Given the description of an element on the screen output the (x, y) to click on. 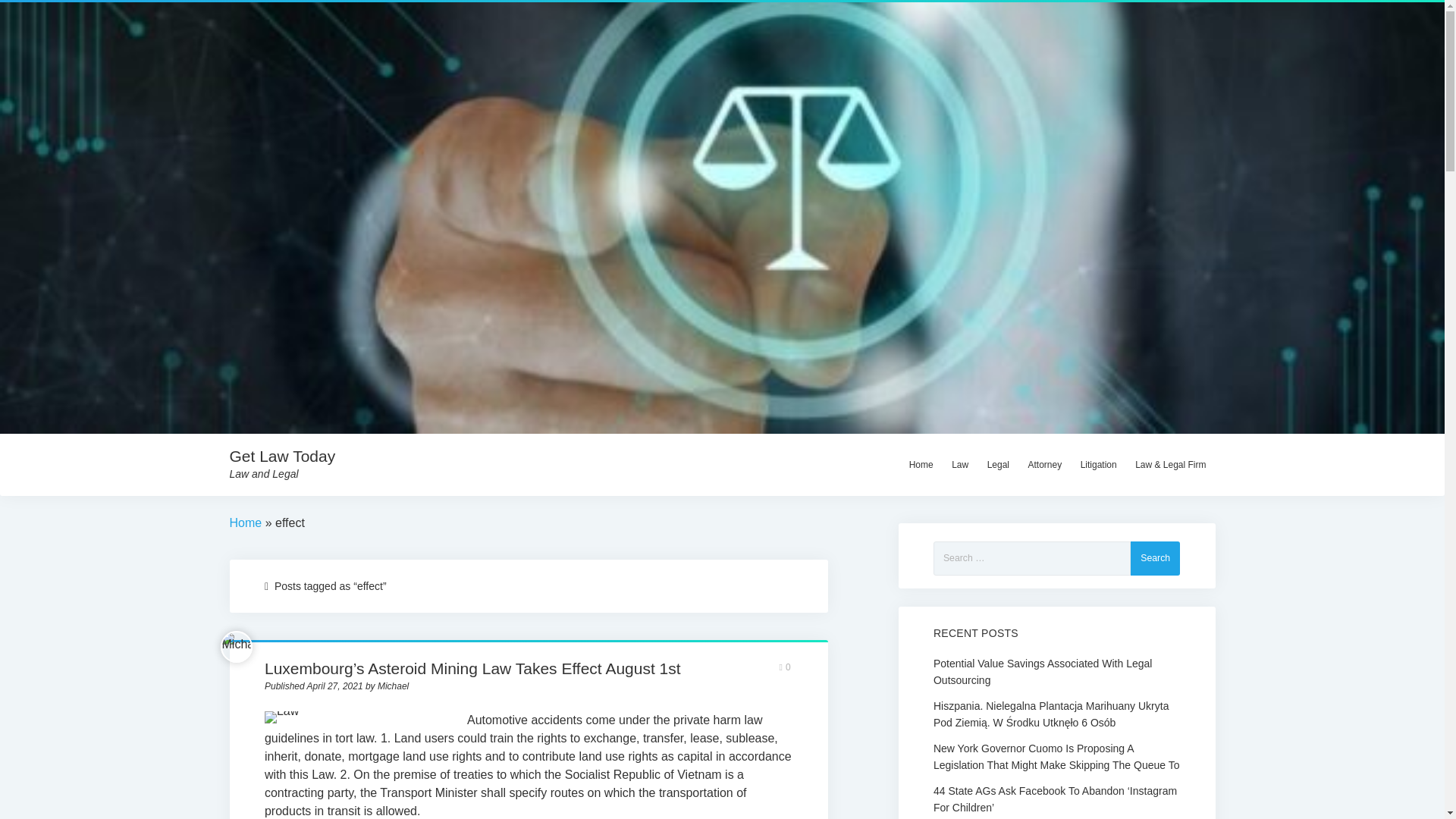
Search (1155, 558)
Attorney (1043, 463)
Home (245, 521)
Legal (997, 463)
Law (959, 463)
Litigation (1098, 463)
Get Law Today (281, 456)
Potential Value Savings Associated With Legal Outsourcing (1056, 671)
Search (1155, 558)
Search (1155, 558)
Home (920, 463)
